Given the description of an element on the screen output the (x, y) to click on. 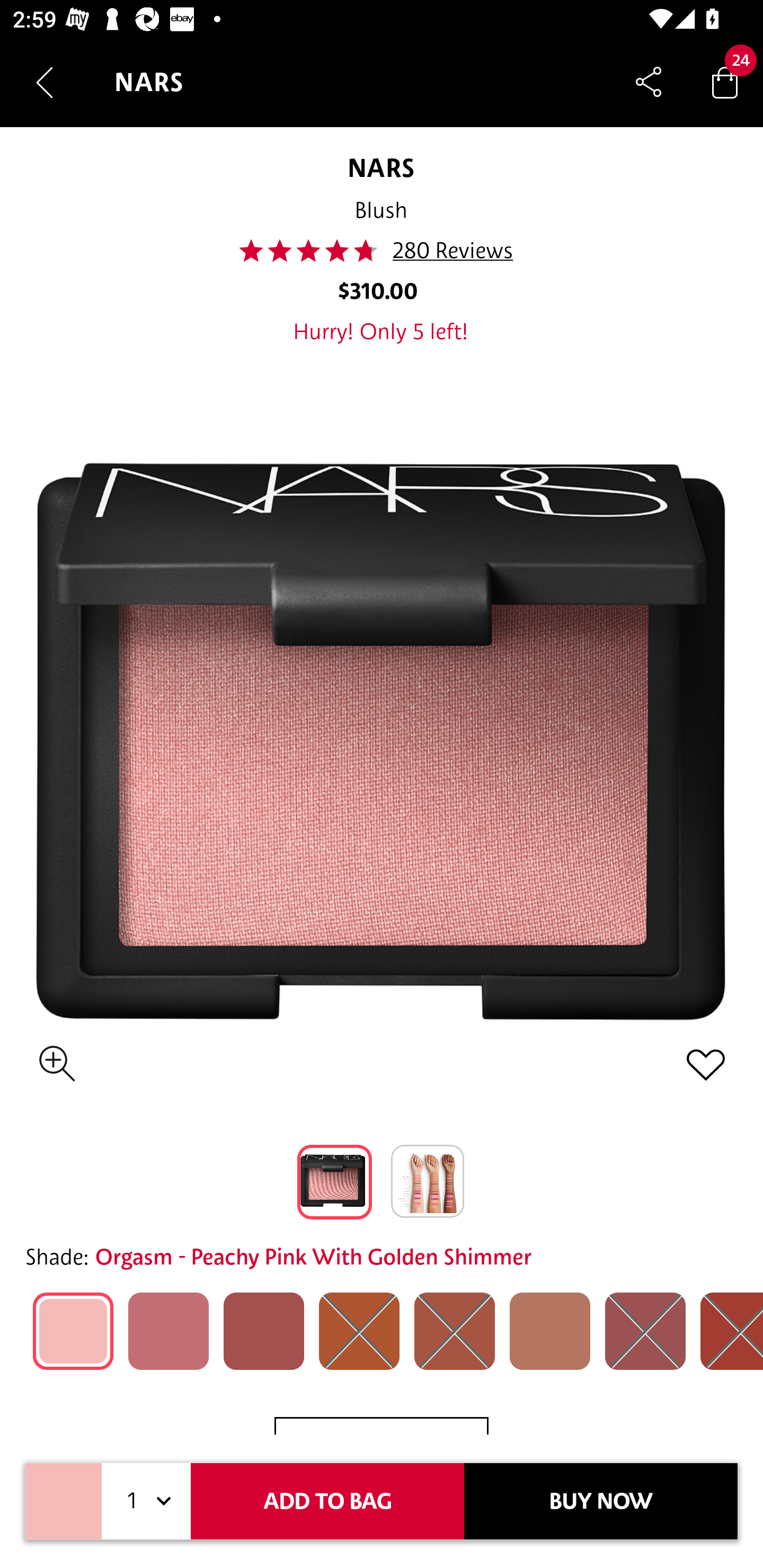
Navigate up (44, 82)
Share (648, 81)
Bag (724, 81)
NARS (380, 167)
47.0 280 Reviews (381, 250)
1 (145, 1500)
ADD TO BAG (326, 1500)
BUY NOW (600, 1500)
